Given the description of an element on the screen output the (x, y) to click on. 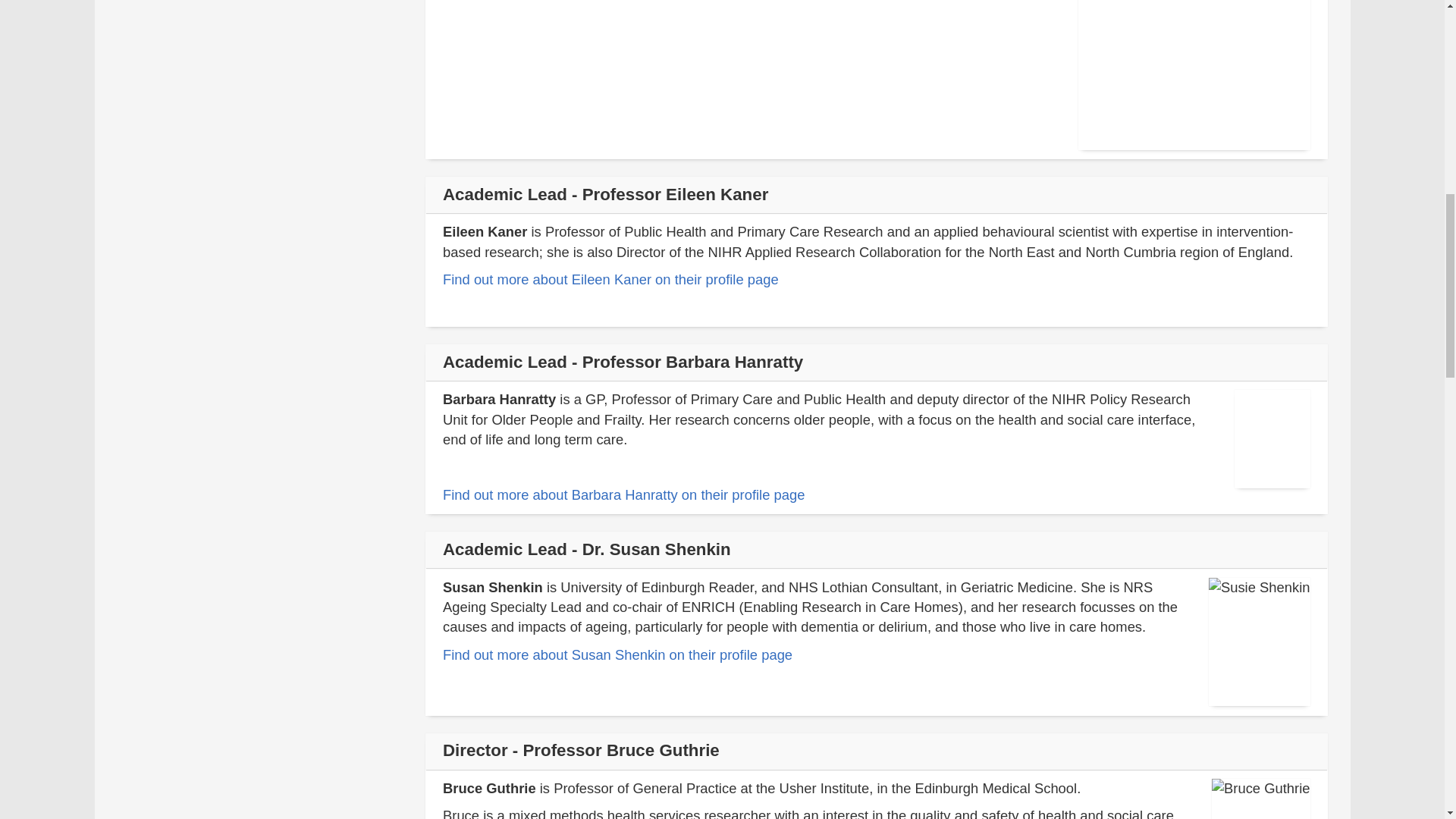
Find out more about Eileen Kaner on their profile page (610, 279)
Find out more about Barbara Hanratty on their profile page (623, 494)
Find out more about Susan Shenkin on their profile page (617, 654)
